Given the description of an element on the screen output the (x, y) to click on. 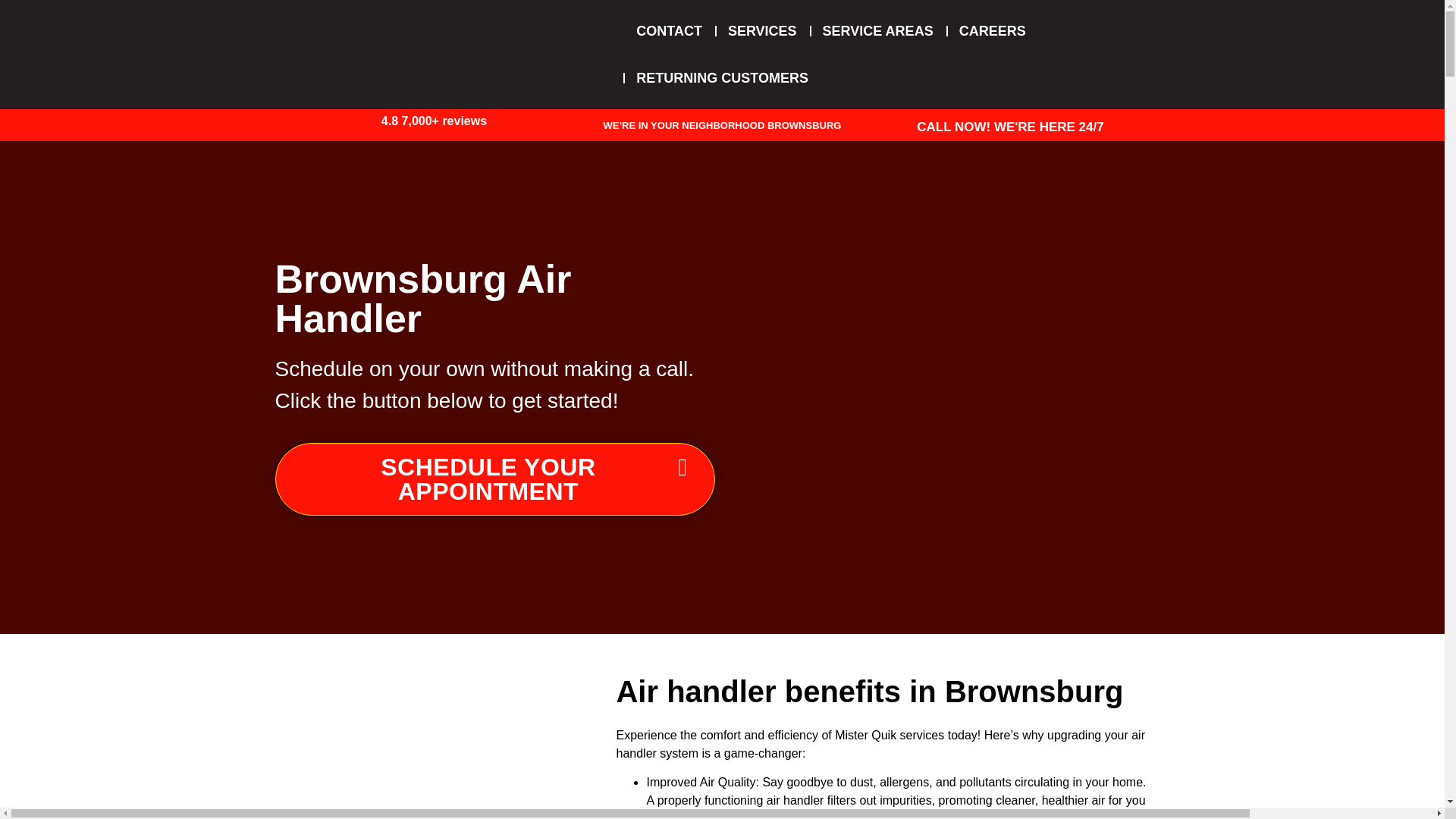
CAREERS (991, 31)
RETURNING CUSTOMERS (721, 77)
CONTACT (668, 31)
SERVICE AREAS (877, 31)
SERVICES (762, 31)
